Given the description of an element on the screen output the (x, y) to click on. 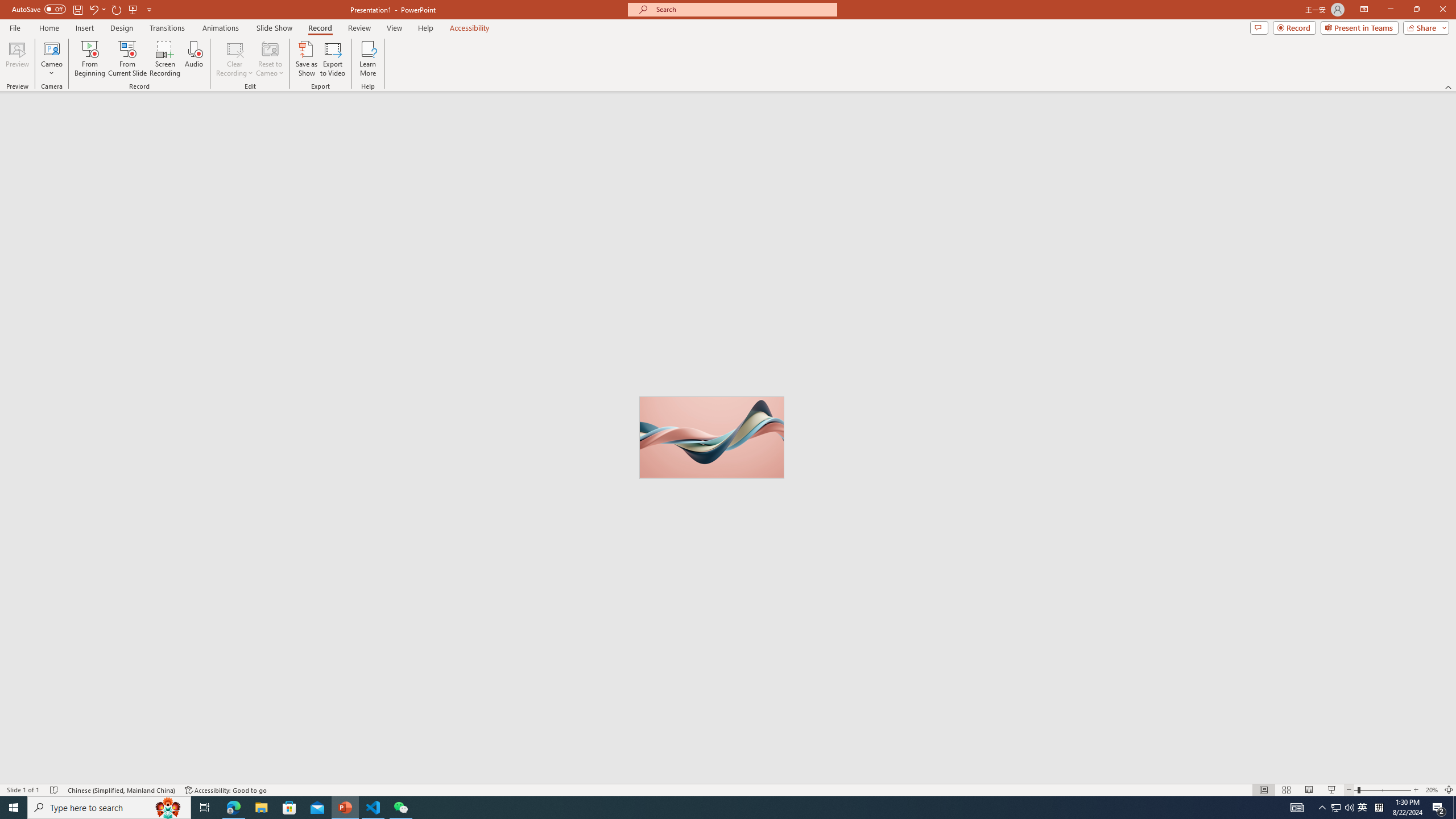
Learn More (368, 58)
Zoom 20% (1431, 790)
Reset to Cameo (269, 58)
